Given the description of an element on the screen output the (x, y) to click on. 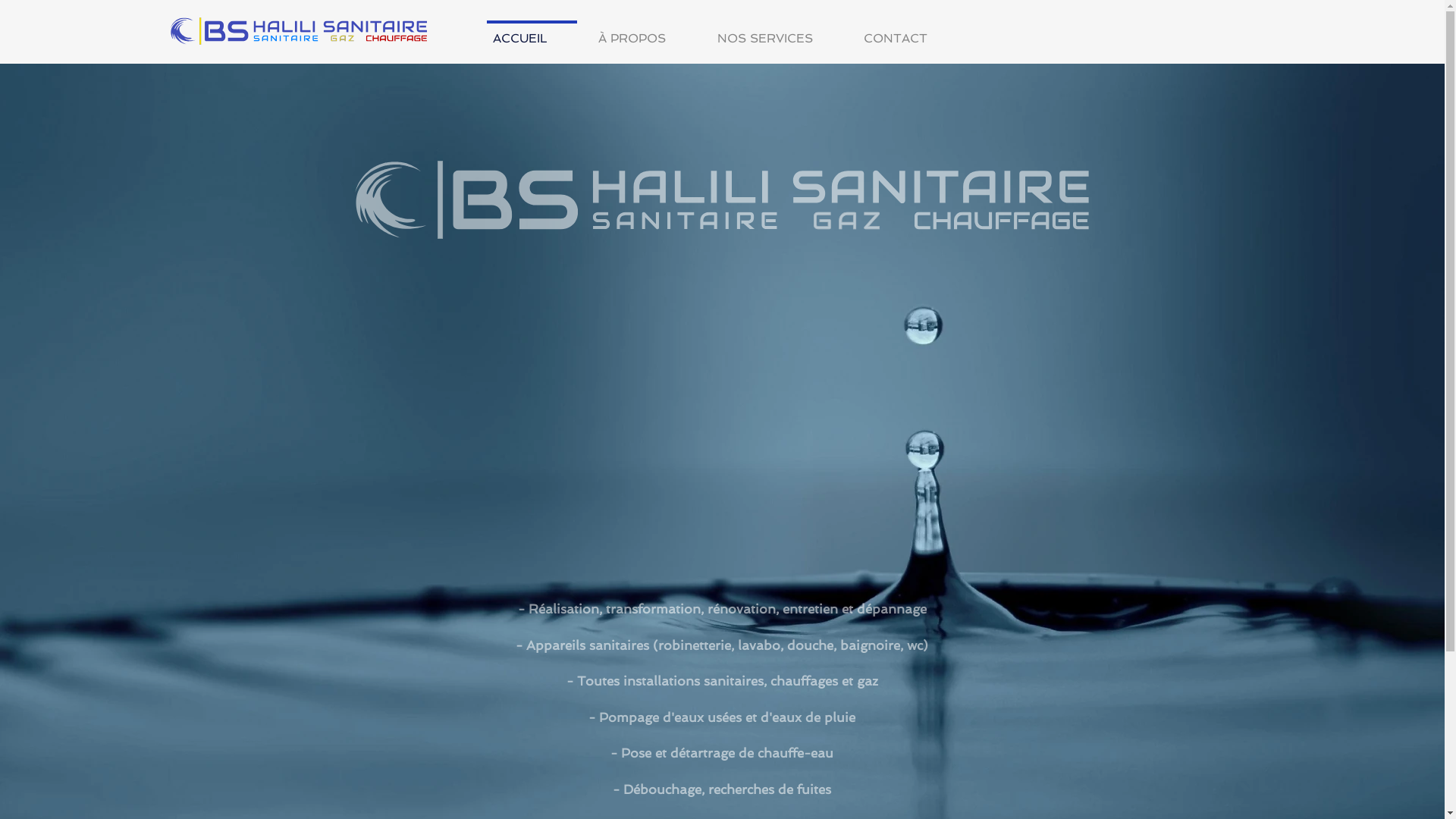
NOS SERVICES Element type: text (776, 31)
CONTACT Element type: text (906, 31)
ACCUEIL Element type: text (531, 31)
